Given the description of an element on the screen output the (x, y) to click on. 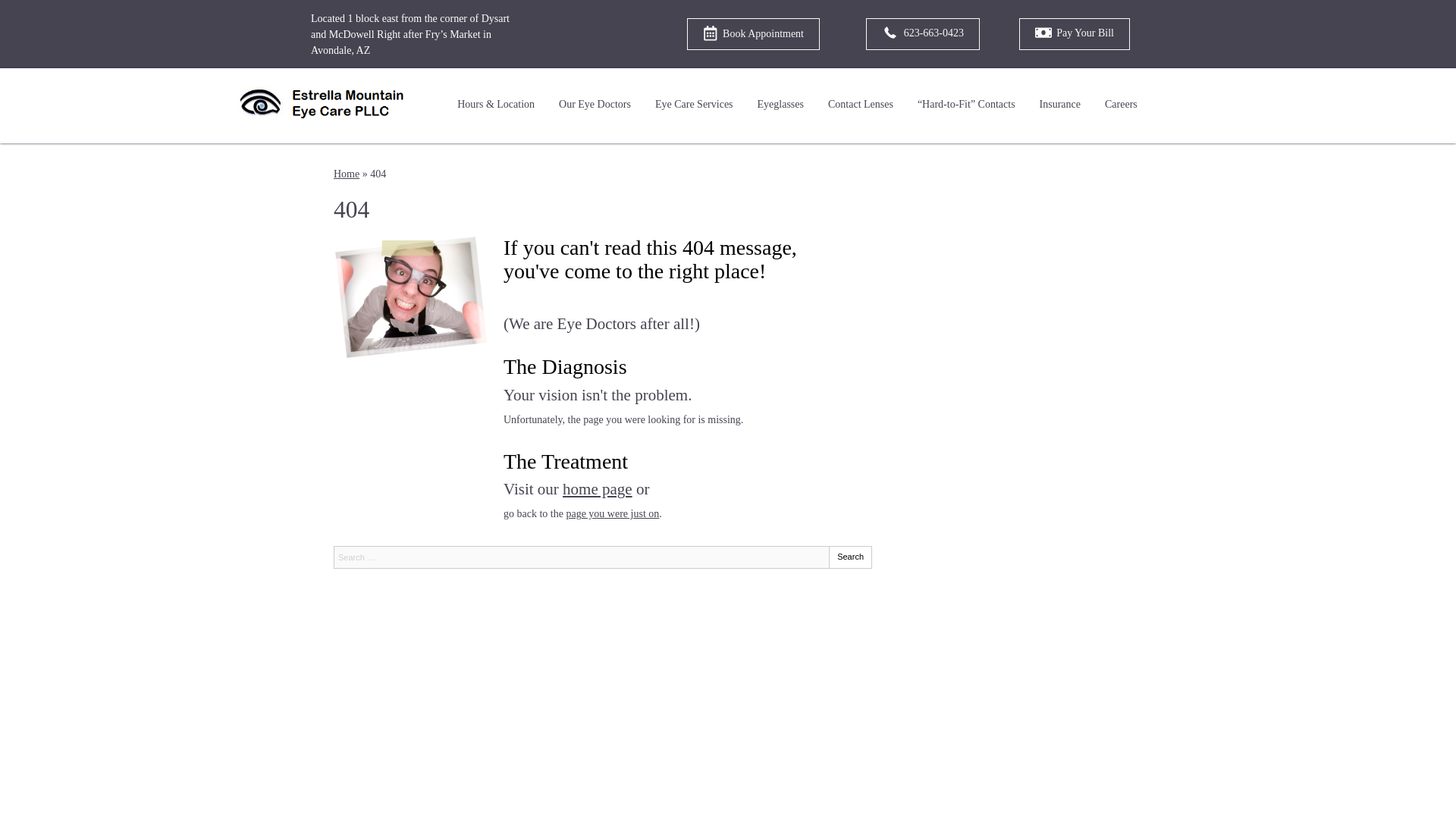
page you were just on (612, 513)
Eye Care Services (694, 104)
Pay Your Bill (1074, 33)
Search (850, 557)
Careers (1121, 104)
Eyeglasses (780, 104)
Book Appointment (753, 33)
Our Eye Doctors (595, 104)
home page (596, 488)
623-663-0423 (922, 33)
